Given the description of an element on the screen output the (x, y) to click on. 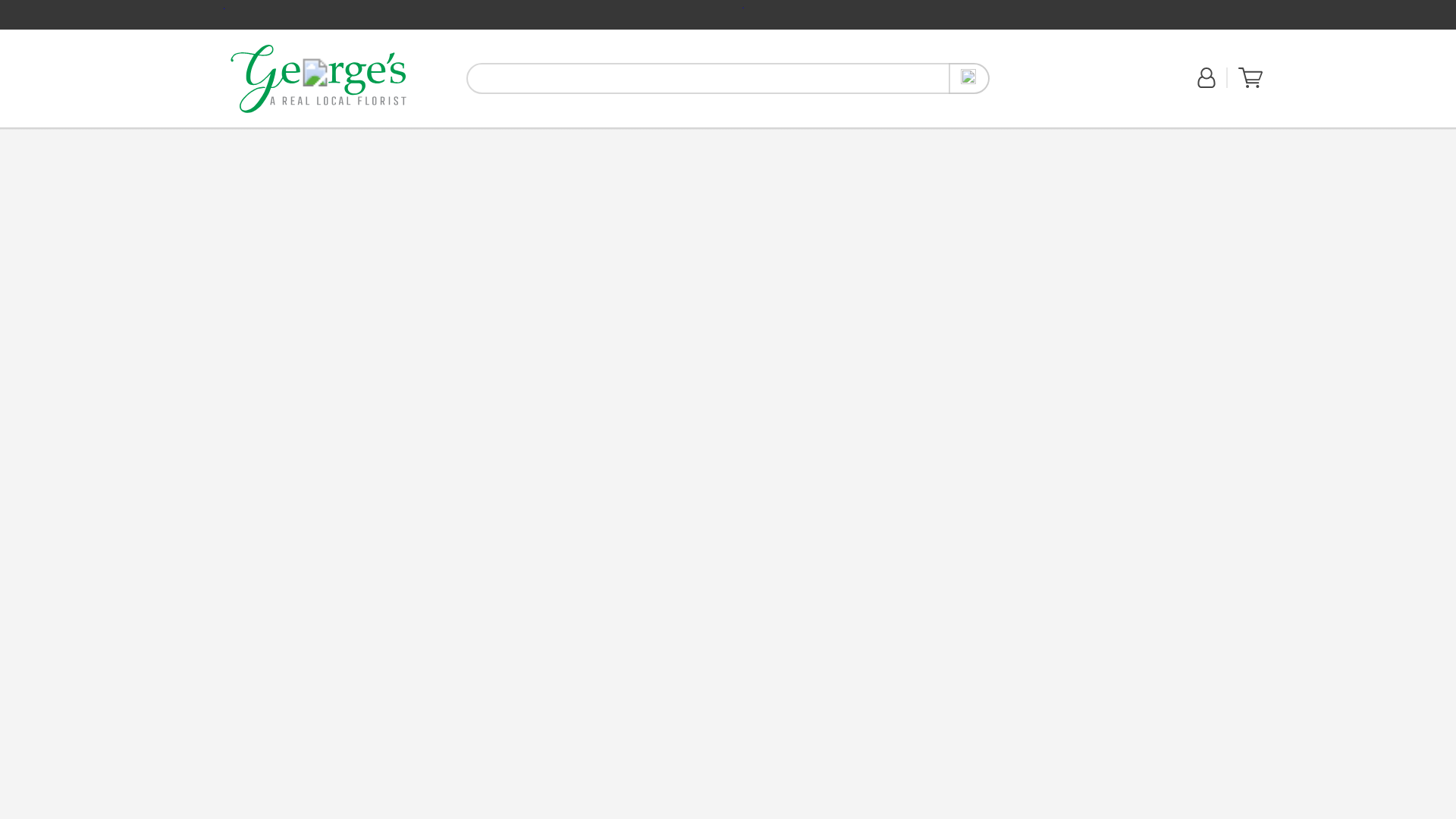
Get Well (330, 135)
View Your Shopping Cart (1250, 84)
Search (969, 78)
Birthday (292, 135)
Set ZIP Code (1044, 86)
Back to the Home Page (318, 78)
Sympathy (430, 136)
Back to the Home Page (318, 78)
View Your Shopping Cart (1250, 77)
Just Because (377, 135)
